Given the description of an element on the screen output the (x, y) to click on. 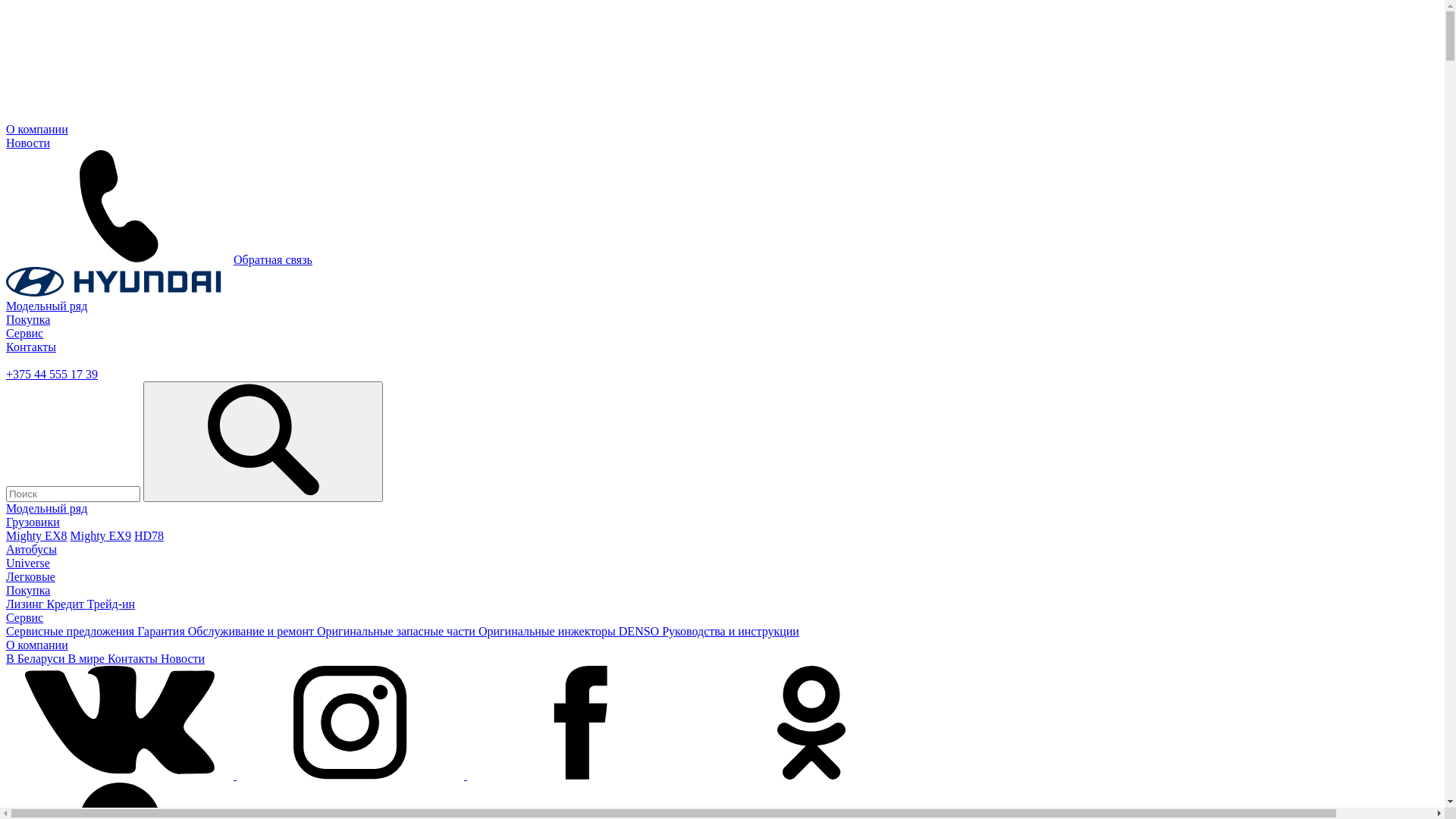
Universe Element type: text (28, 562)
Mighty EX9 Element type: text (99, 535)
+375 44 555 17 39 Element type: text (51, 373)
HD78 Element type: text (148, 535)
Mighty EX8 Element type: text (36, 535)
